Given the description of an element on the screen output the (x, y) to click on. 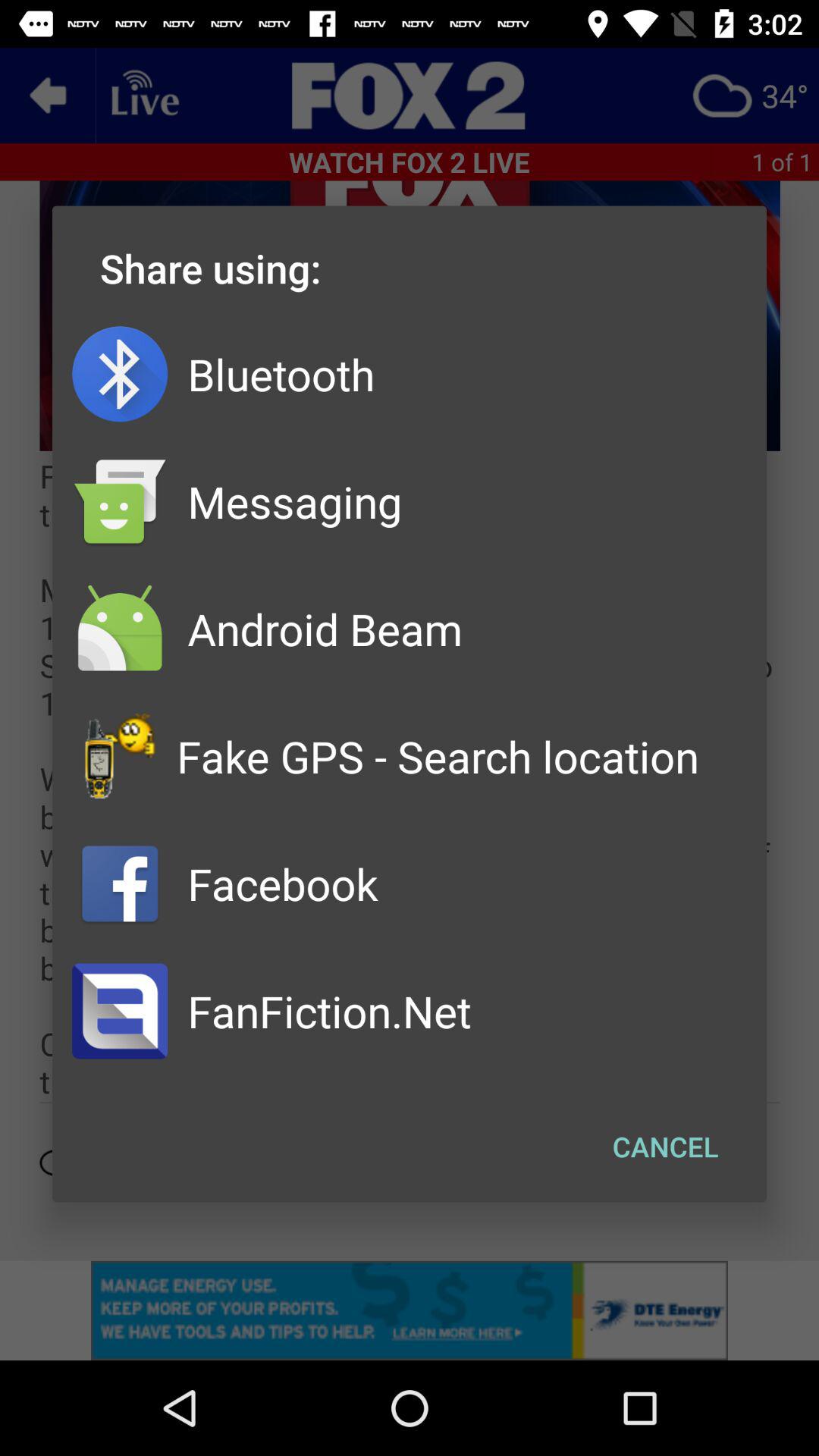
jump to cancel icon (665, 1146)
